Given the description of an element on the screen output the (x, y) to click on. 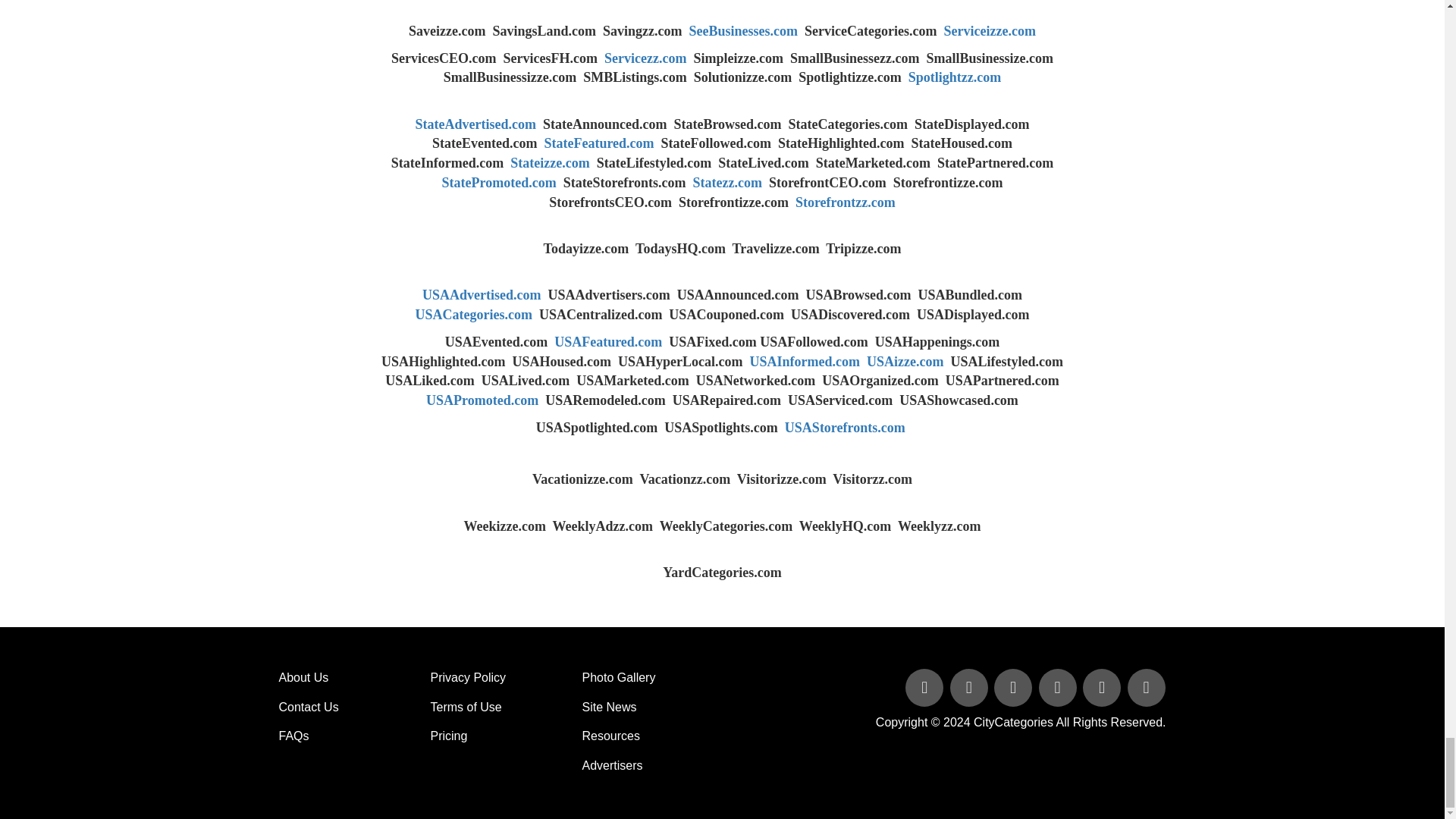
Follow Us on Facebook (925, 688)
Follow Us on Pinterest (1103, 688)
Follow Us on Linked In (1014, 688)
Follow Us on Instagram (1145, 688)
Follow Us on You Tube (1058, 688)
Follow Us on Twitter (970, 688)
